Given the description of an element on the screen output the (x, y) to click on. 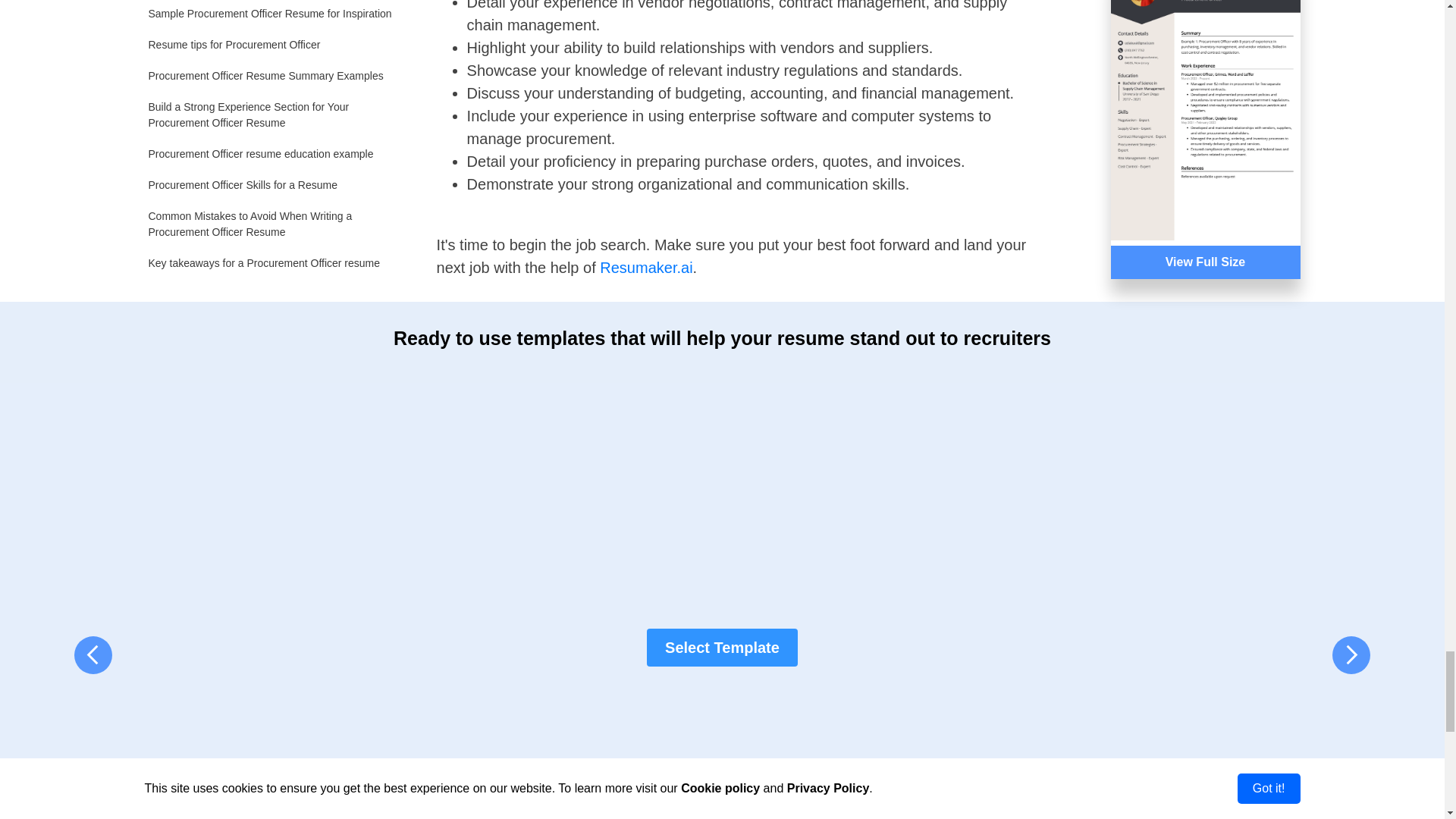
Resumaker.ai (646, 267)
View Full Size (1166, 139)
